Given the description of an element on the screen output the (x, y) to click on. 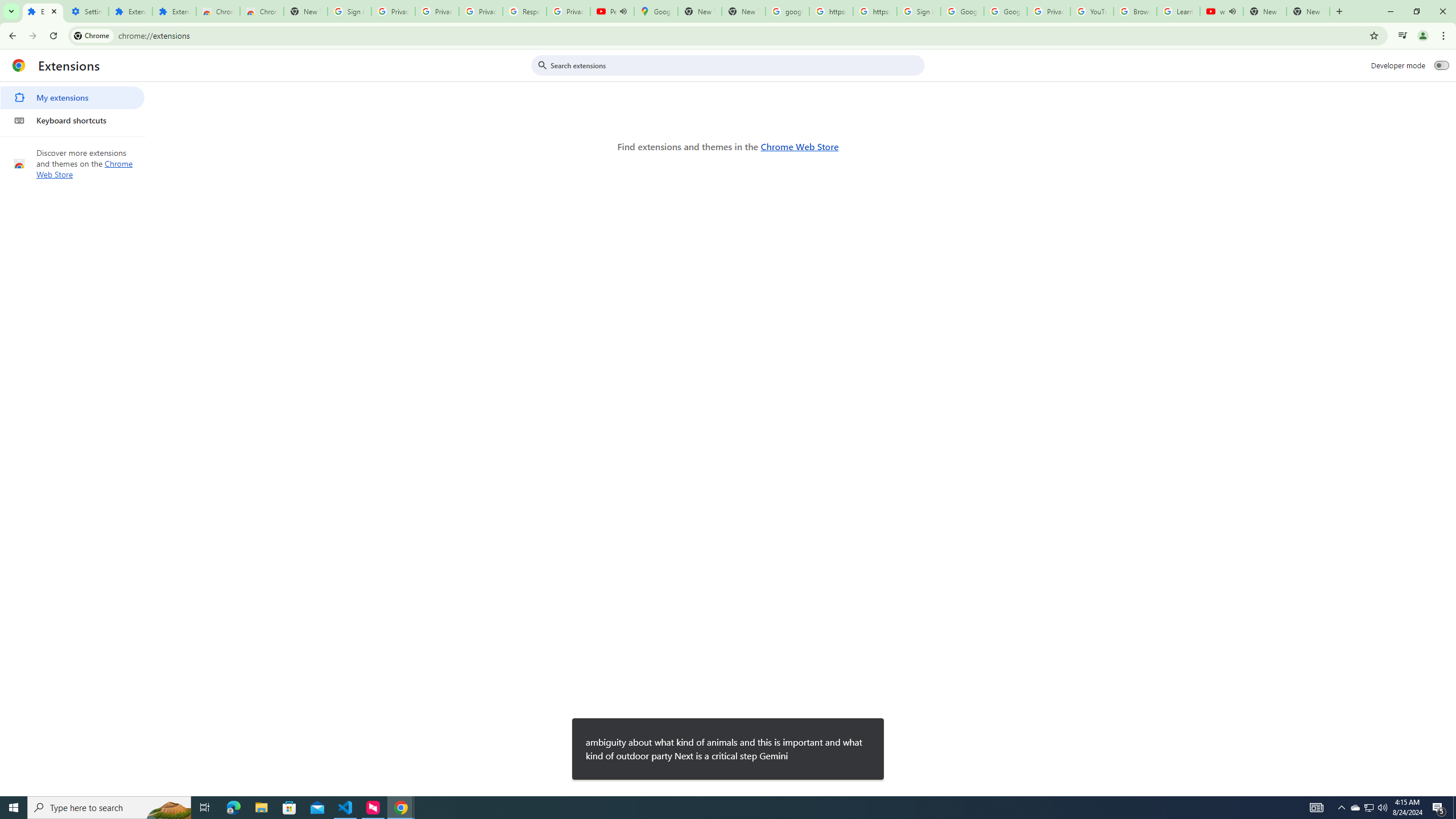
https://scholar.google.com/ (830, 11)
Personalized AI for you | Gemini - YouTube - Audio playing (612, 11)
Extensions (173, 11)
New Tab (1308, 11)
New Tab (305, 11)
Chrome Web Store (799, 146)
